Given the description of an element on the screen output the (x, y) to click on. 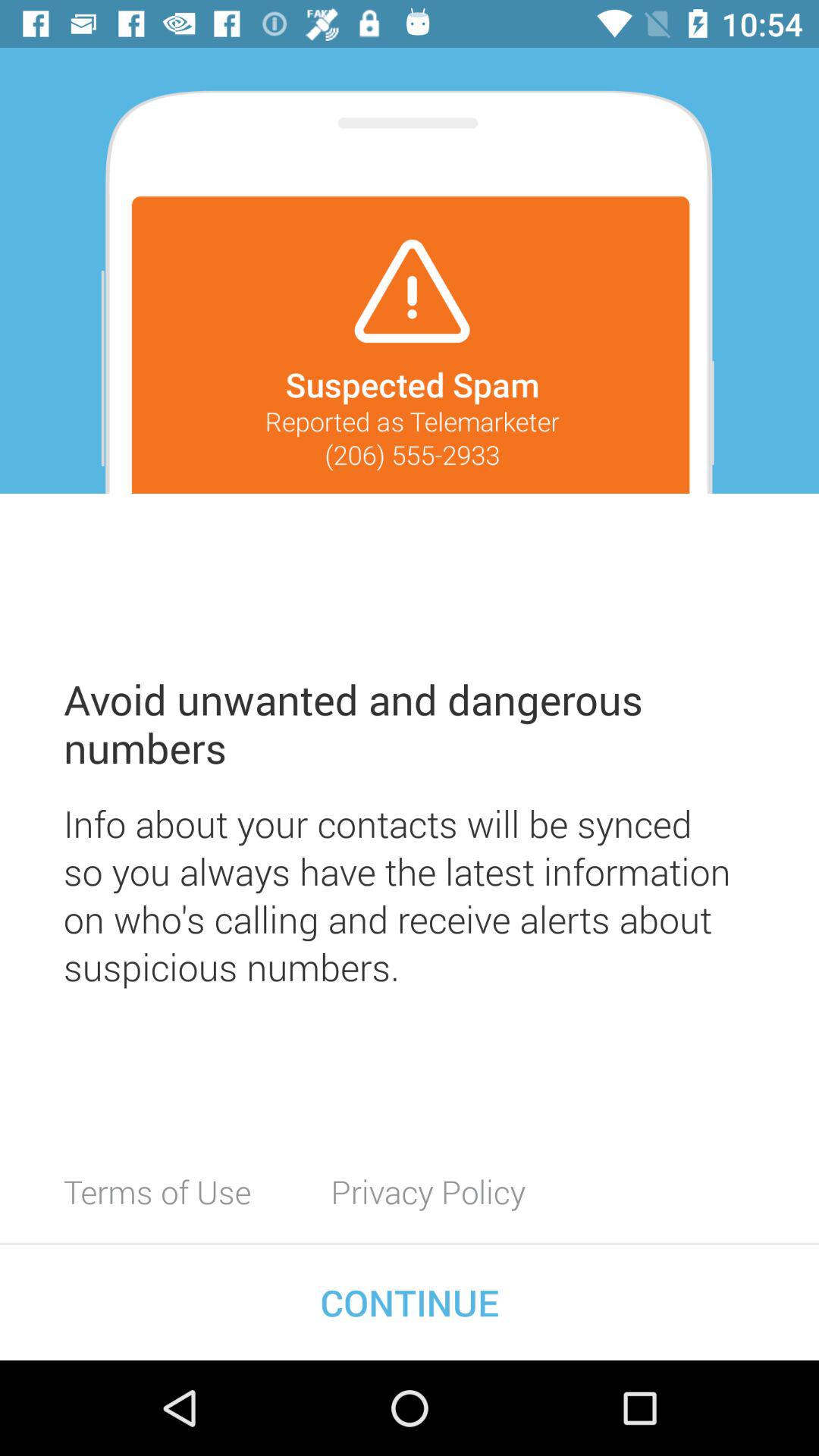
launch item below info about your item (157, 1191)
